Given the description of an element on the screen output the (x, y) to click on. 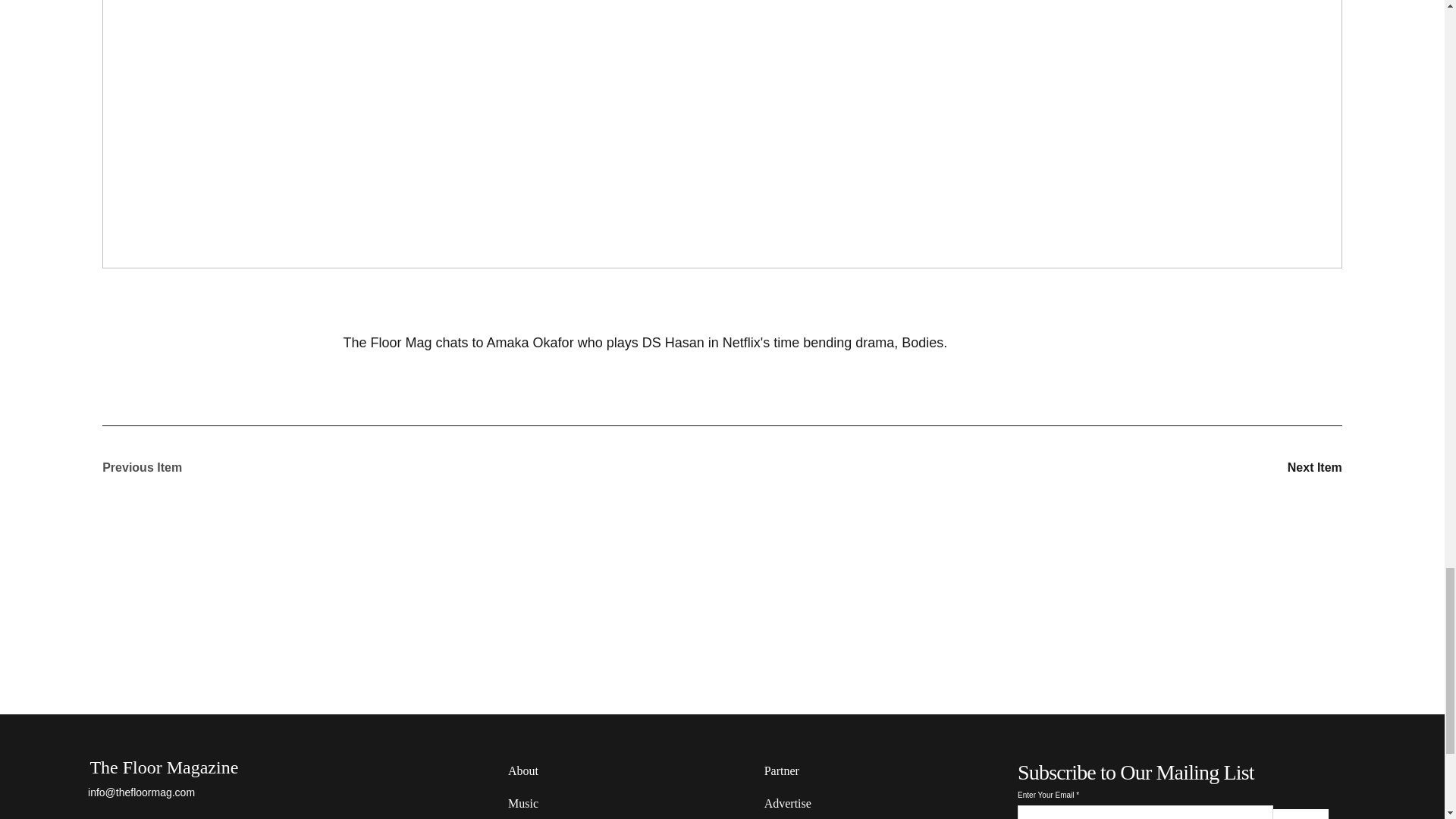
About (554, 771)
Partner (810, 771)
Advertise (810, 803)
Previous Item (155, 467)
Join (1299, 814)
Next Item (1288, 467)
Music (554, 803)
